Given the description of an element on the screen output the (x, y) to click on. 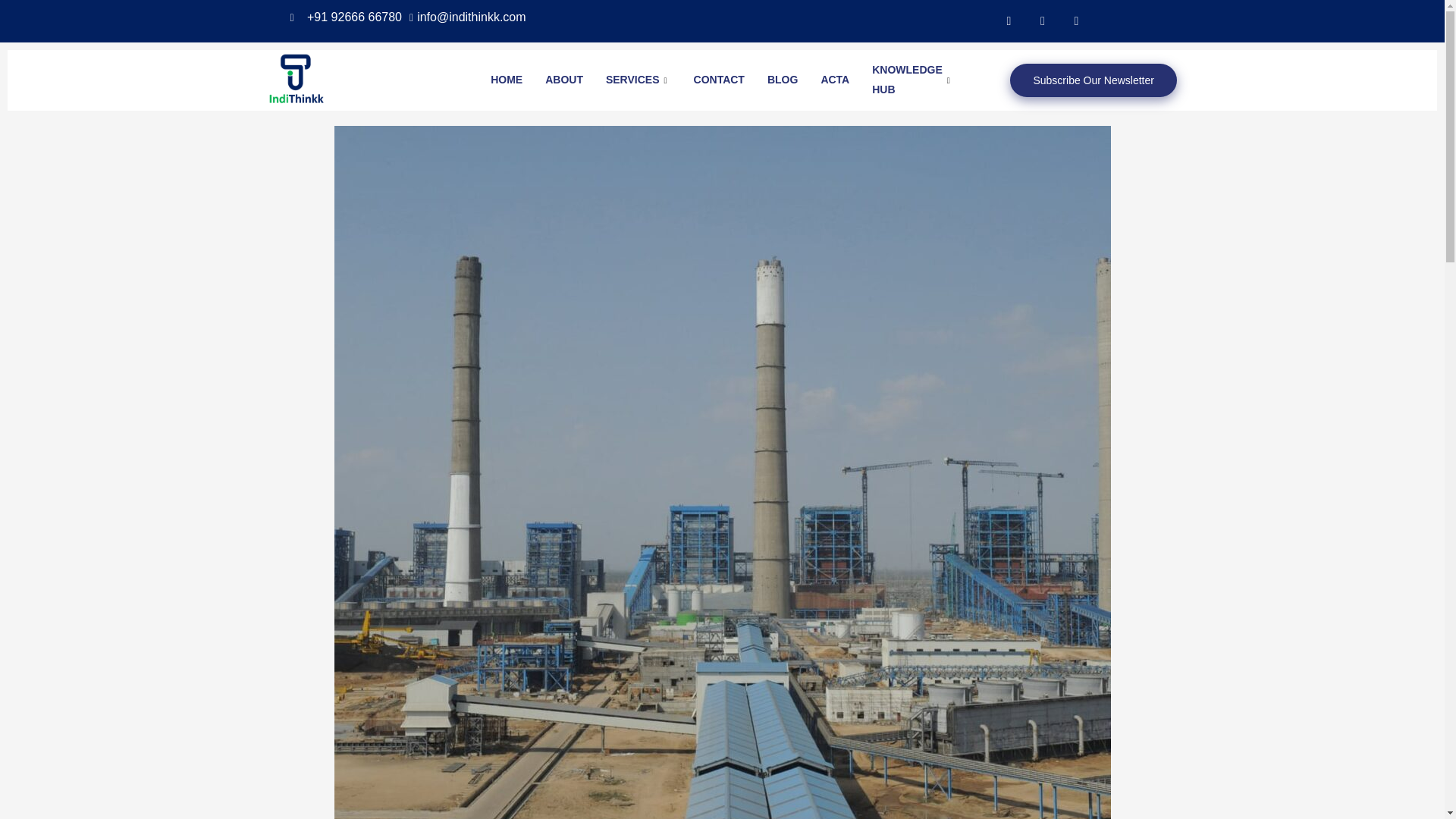
HOME (506, 79)
Subscribe Our Newsletter (1093, 80)
KNOWLEDGE HUB (912, 79)
ABOUT (564, 79)
CONTACT (718, 79)
SERVICES (638, 79)
Indithinkk logo (298, 79)
